Given the description of an element on the screen output the (x, y) to click on. 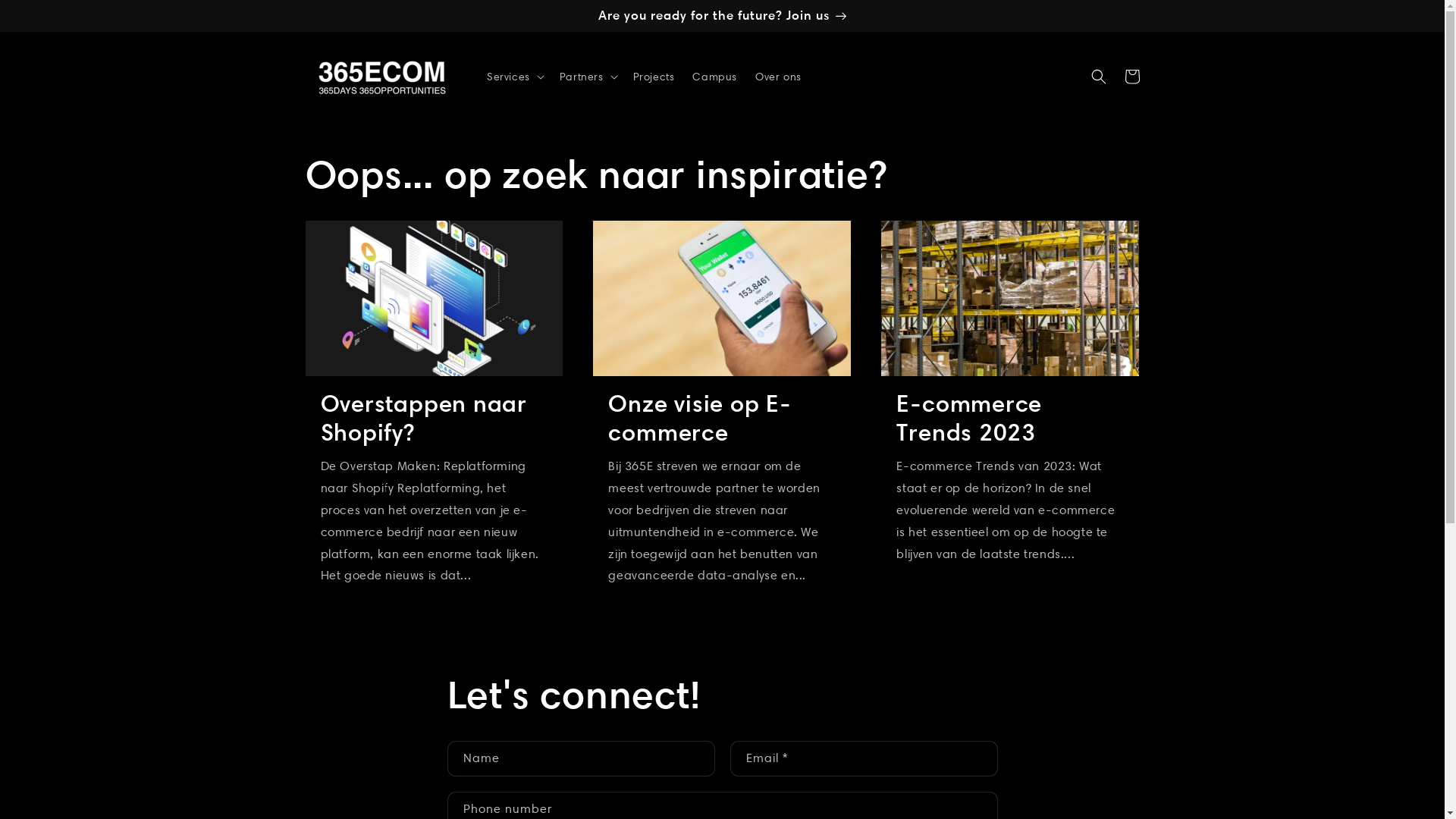
Campus Element type: text (714, 76)
Cart Element type: text (1131, 76)
E-commerce Trends 2023 Element type: text (1009, 418)
Over ons Element type: text (778, 76)
Projects Element type: text (654, 76)
Overstappen naar Shopify? Element type: text (433, 418)
Are you ready for the future? Join us Element type: text (722, 15)
Onze visie op E-commerce Element type: text (721, 418)
